Given the description of an element on the screen output the (x, y) to click on. 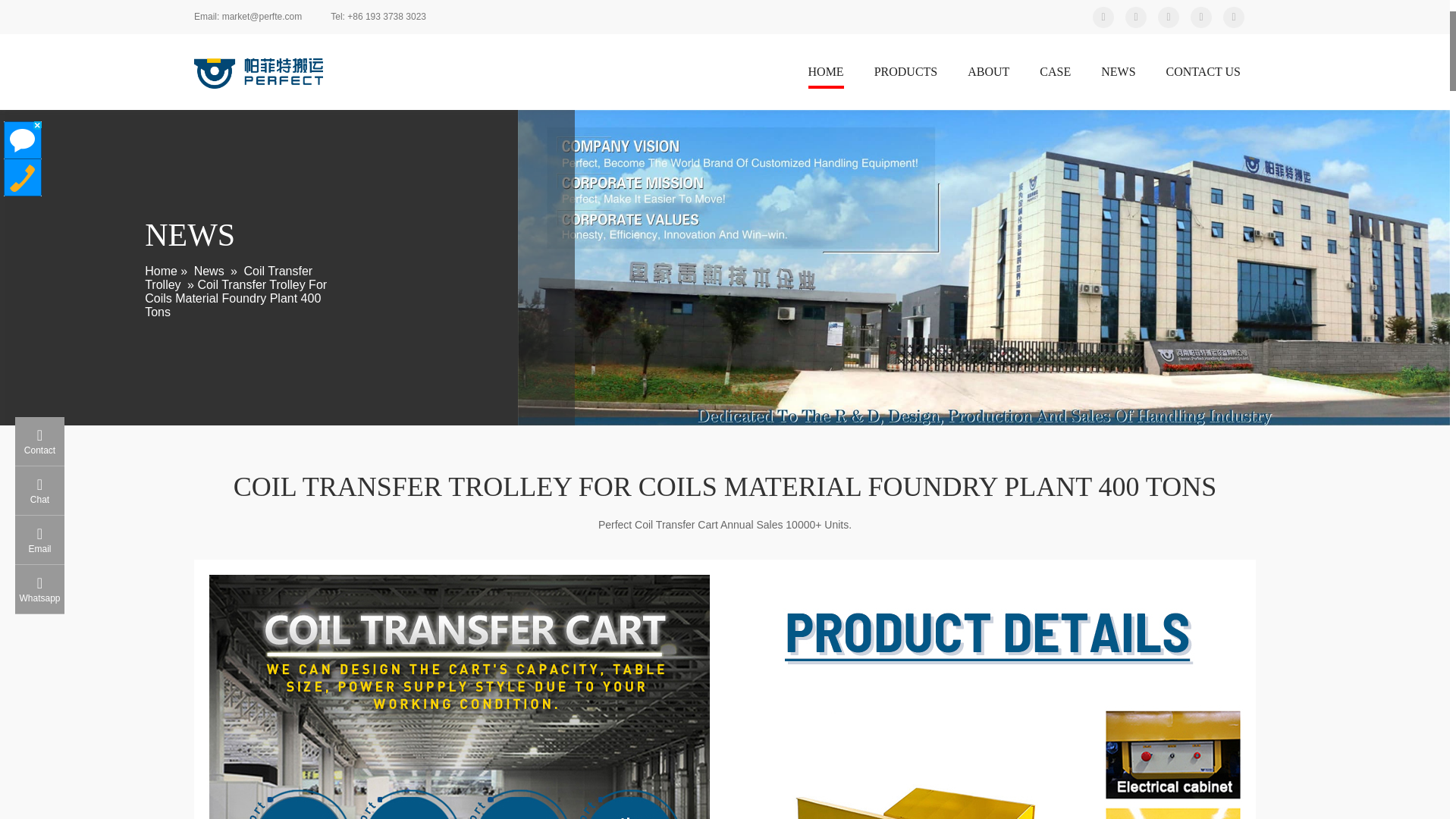
Perfect coil transfer trolley supplier (258, 73)
Perfect coil transfer trolley facebook (1201, 16)
PRODUCTS (906, 73)
Perfect coil transfer trolley youtube (1136, 16)
Products (906, 73)
Perfect coil transfer trolley ins (1233, 16)
Perfect coil transfer trolley email (247, 17)
Perfect coil transfer trolley twitter (1103, 16)
ABOUT (988, 73)
CONTACT US (1203, 73)
Perfect coil transfer trolley email (378, 17)
Perfect coil transfer trolley linkedin (1168, 16)
